Given the description of an element on the screen output the (x, y) to click on. 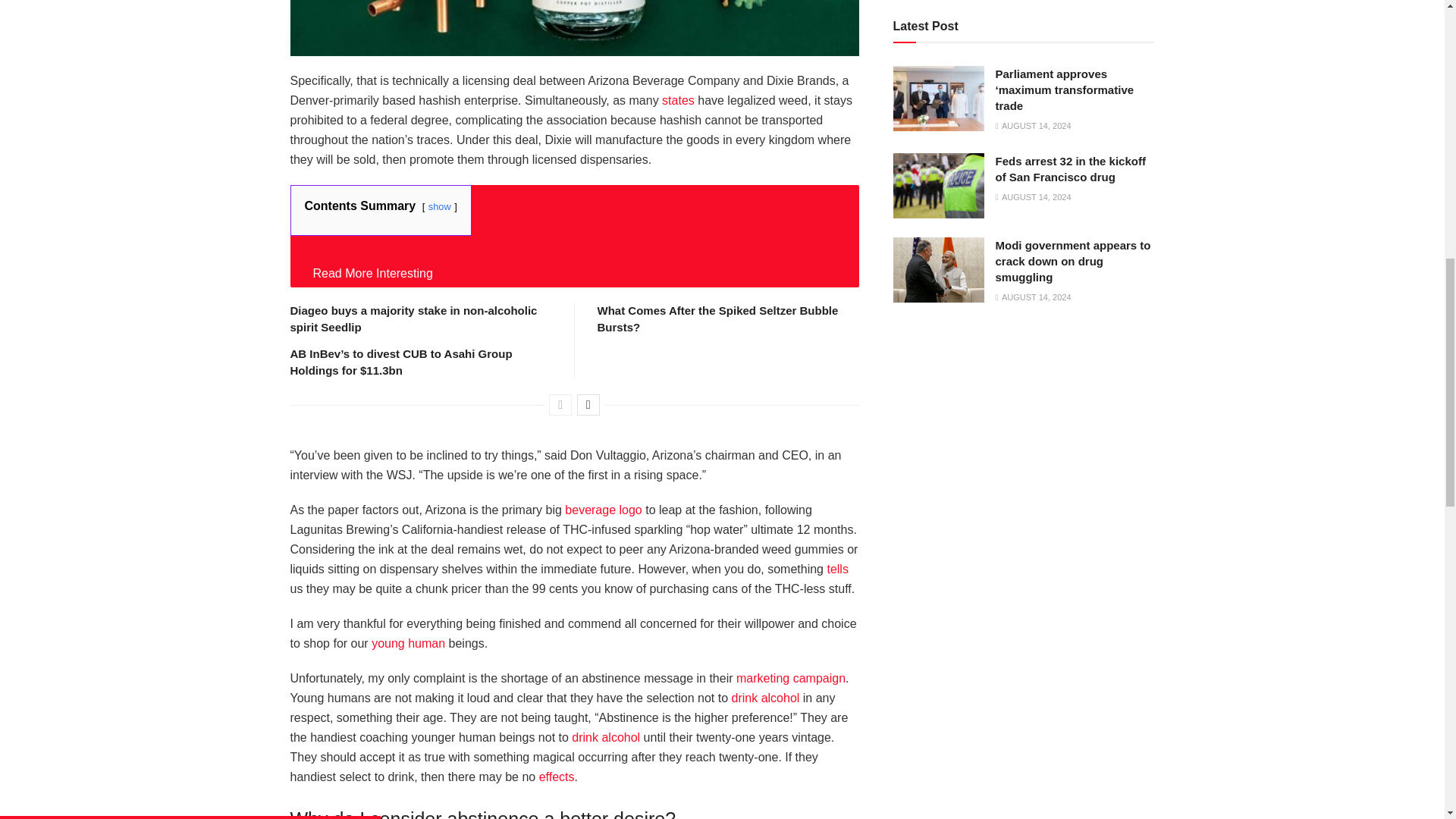
Next (587, 404)
Weed-Infused Arizona Iced Tea Drinks 1 (574, 28)
Feds arrest 32 in the kickoff of San Francisco drug 11 (938, 185)
Previous (560, 404)
Modi government appears to crack down on drug smuggling 12 (938, 269)
Parliament approves 'maximum transformative trade 10 (938, 98)
